Given the description of an element on the screen output the (x, y) to click on. 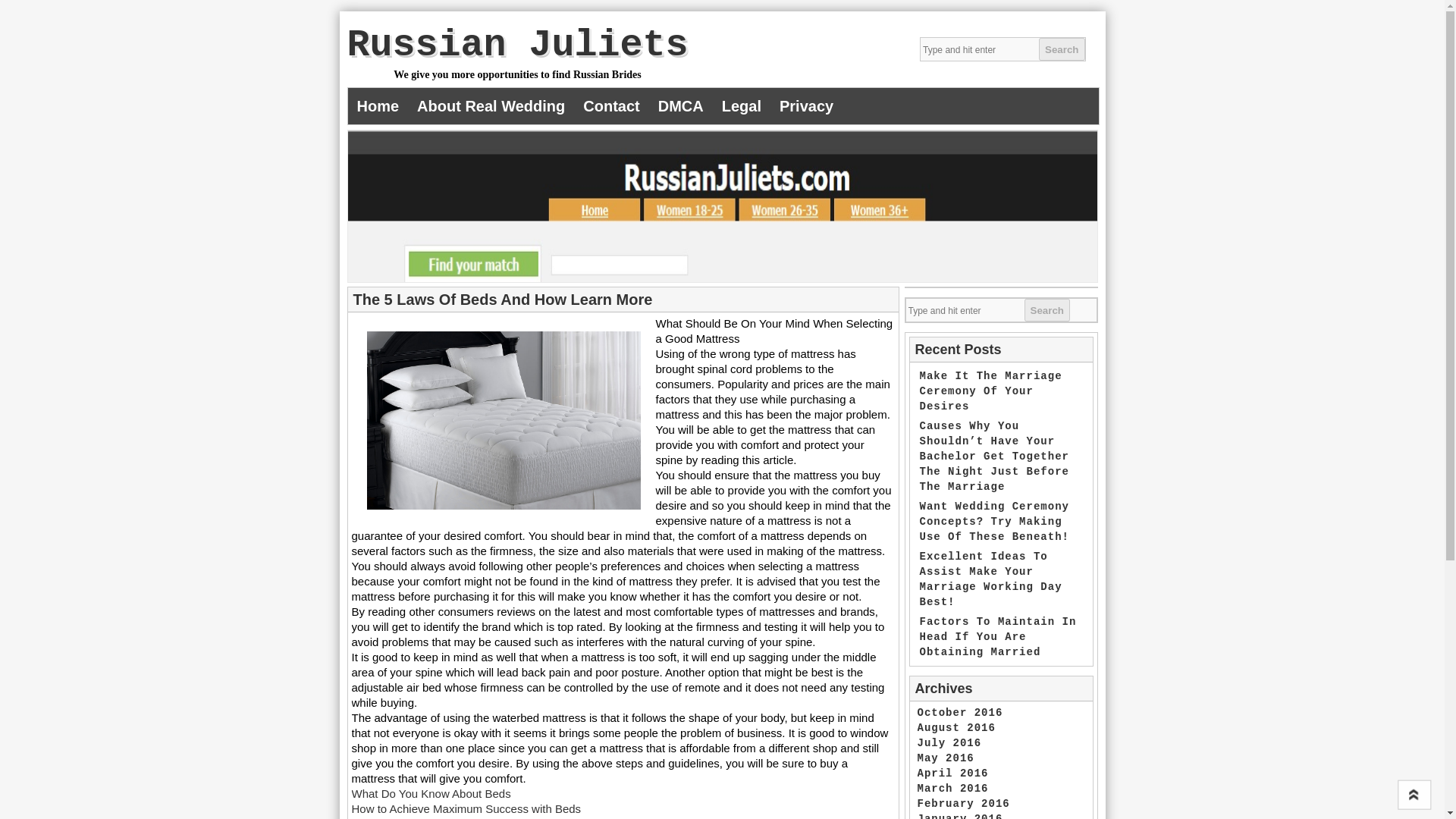
How to Achieve Maximum Success with Beds (466, 808)
February 2016 (963, 803)
Make It The Marriage Ceremony Of Your Desires (989, 391)
Russian Juliets (517, 45)
Search (1061, 48)
January 2016 (960, 816)
DMCA (681, 105)
October 2016 (960, 712)
Legal (741, 105)
March 2016 (952, 788)
Search (1045, 309)
What Do You Know About Beds (431, 793)
April 2016 (952, 773)
Factors To Maintain In Head If You Are Obtaining Married (996, 636)
